Given the description of an element on the screen output the (x, y) to click on. 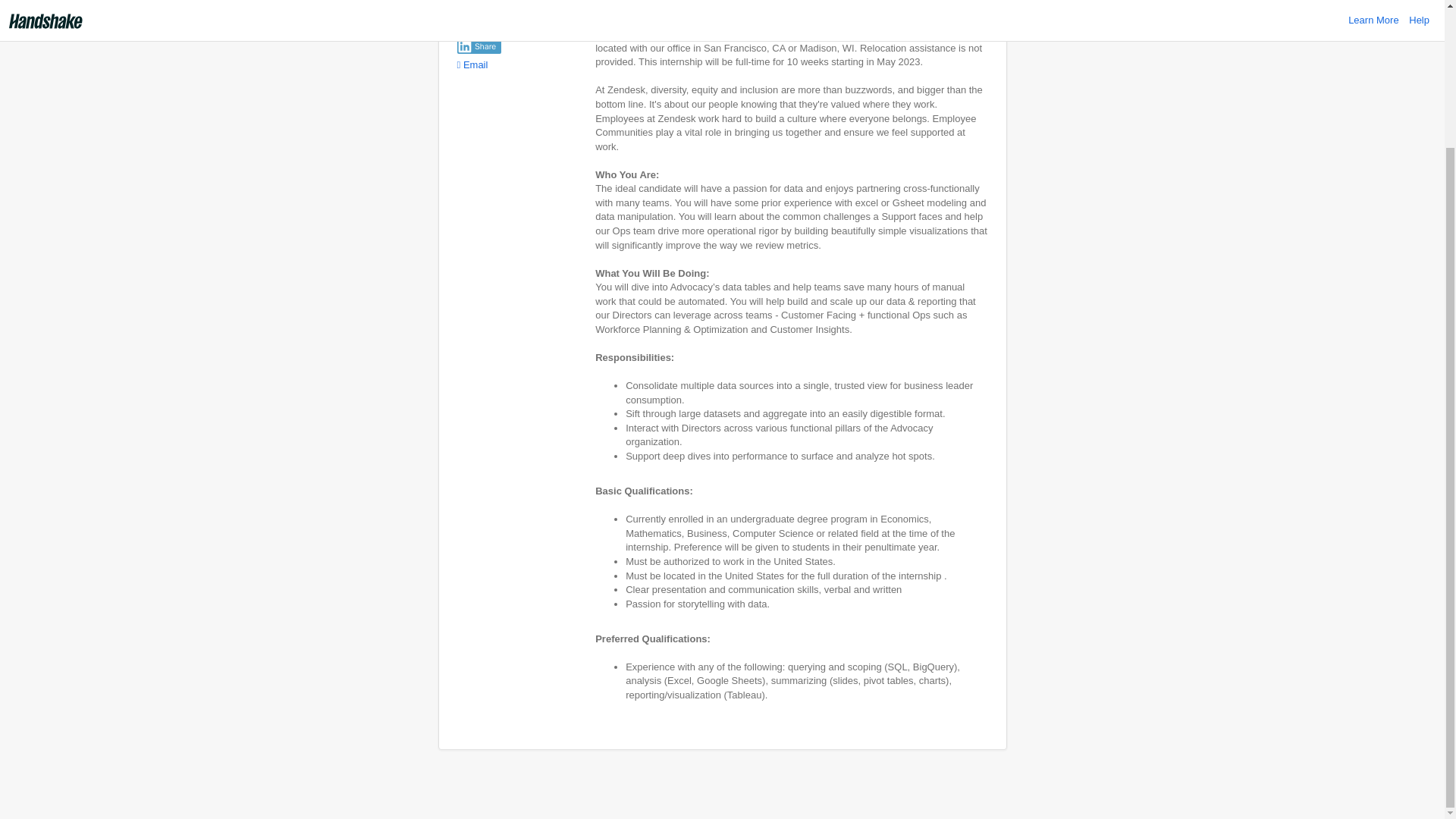
Email (472, 64)
Share by Email (472, 64)
Tweet (470, 24)
Share (478, 46)
